Given the description of an element on the screen output the (x, y) to click on. 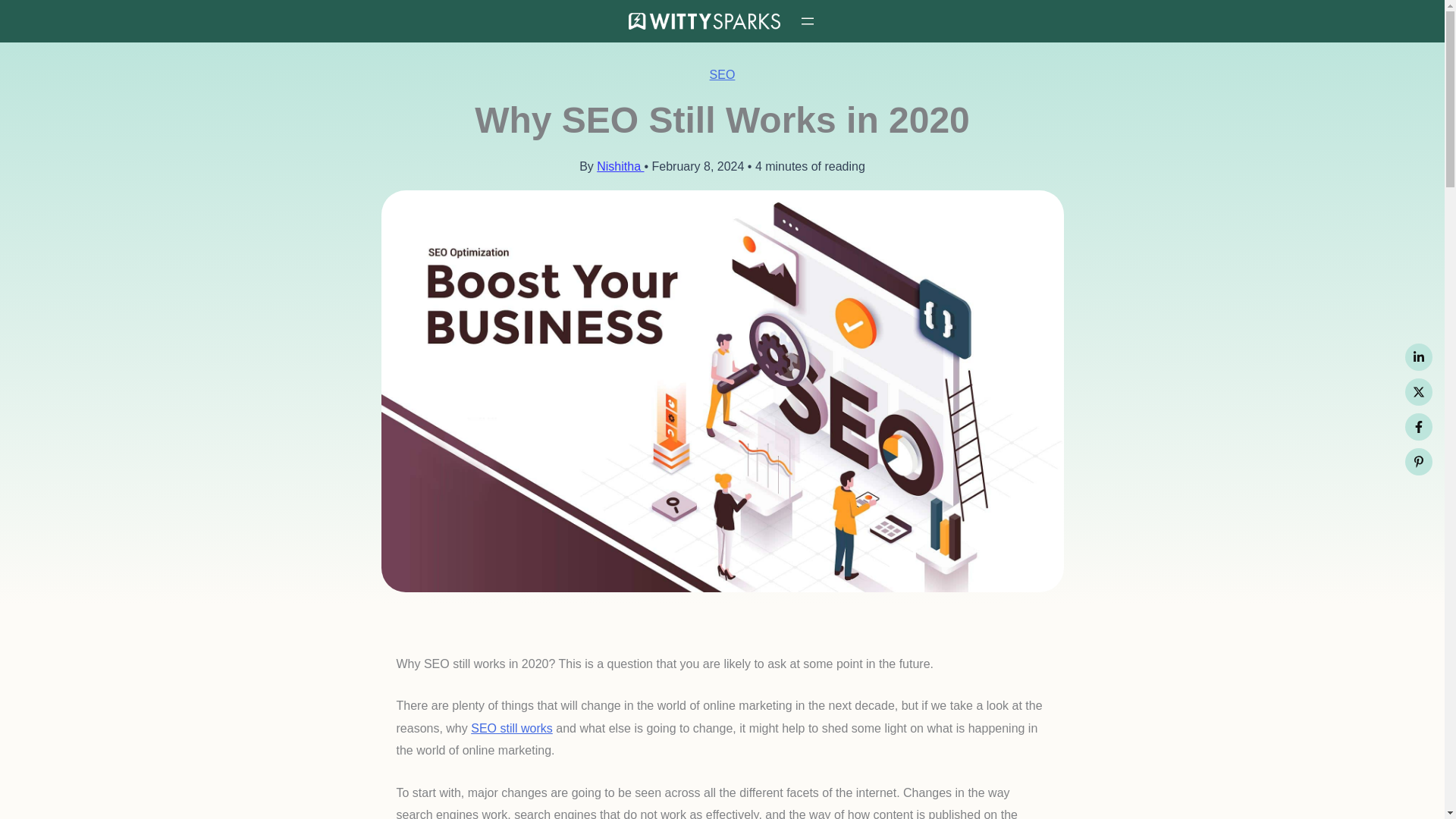
SEO still works (511, 727)
Nishitha (619, 165)
View all posts by Nishitha (619, 165)
SEO (722, 74)
